Given the description of an element on the screen output the (x, y) to click on. 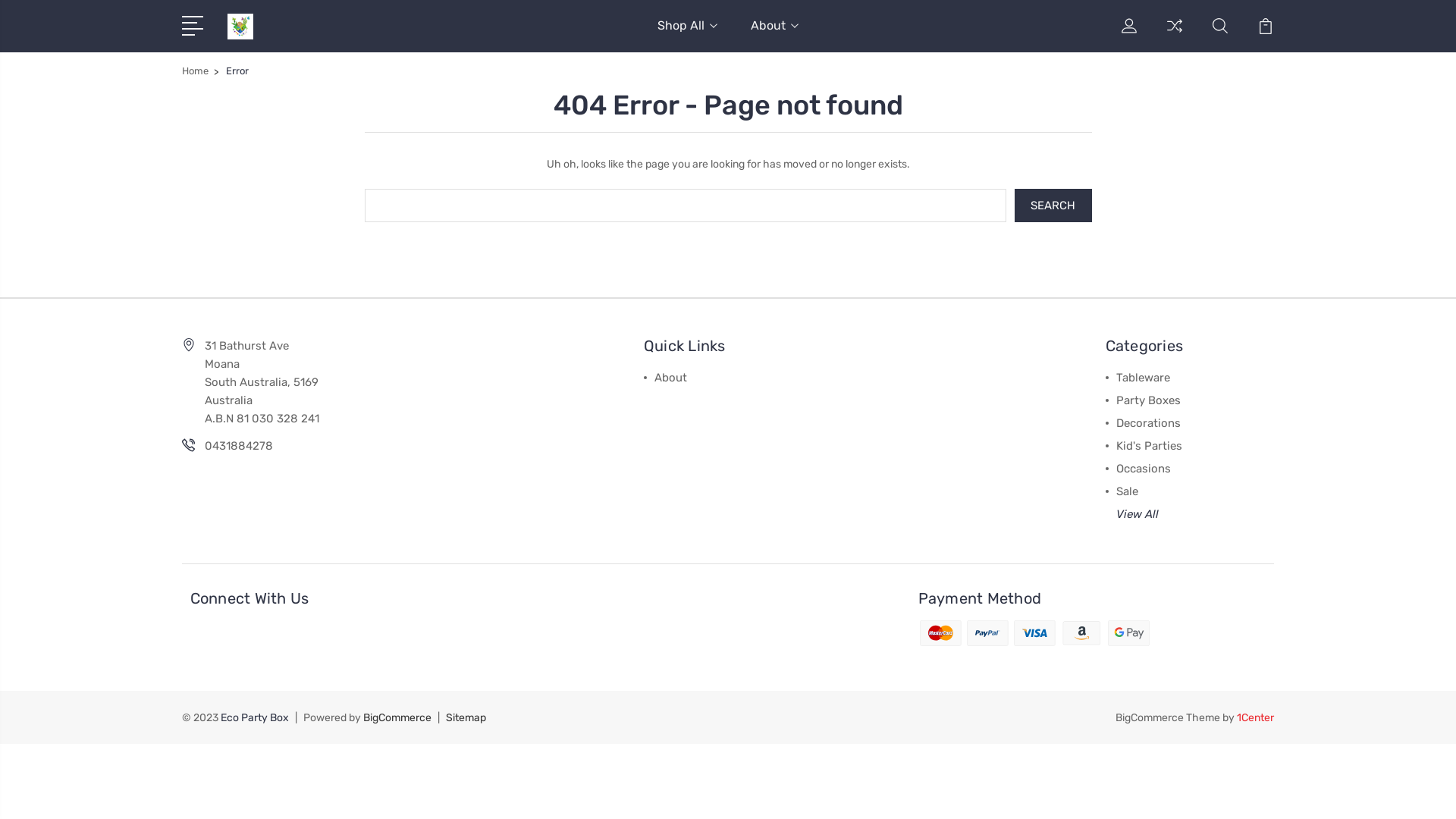
Occasions Element type: text (1143, 467)
Search Element type: text (1053, 204)
View All Element type: text (1137, 513)
Eco Party Box Element type: hover (240, 26)
0431884278 Element type: text (238, 445)
Compare Element type: hover (1174, 34)
Shop All Element type: text (687, 34)
1Center Element type: text (1255, 717)
BigCommerce Element type: text (397, 717)
About Element type: text (670, 376)
Sitemap Element type: text (465, 717)
Party Boxes Element type: text (1148, 399)
Sale Element type: text (1127, 490)
Kid's Parties Element type: text (1149, 444)
Home Element type: text (195, 70)
About Element type: text (774, 34)
Decorations Element type: text (1148, 422)
Tableware Element type: text (1143, 376)
